Given the description of an element on the screen output the (x, y) to click on. 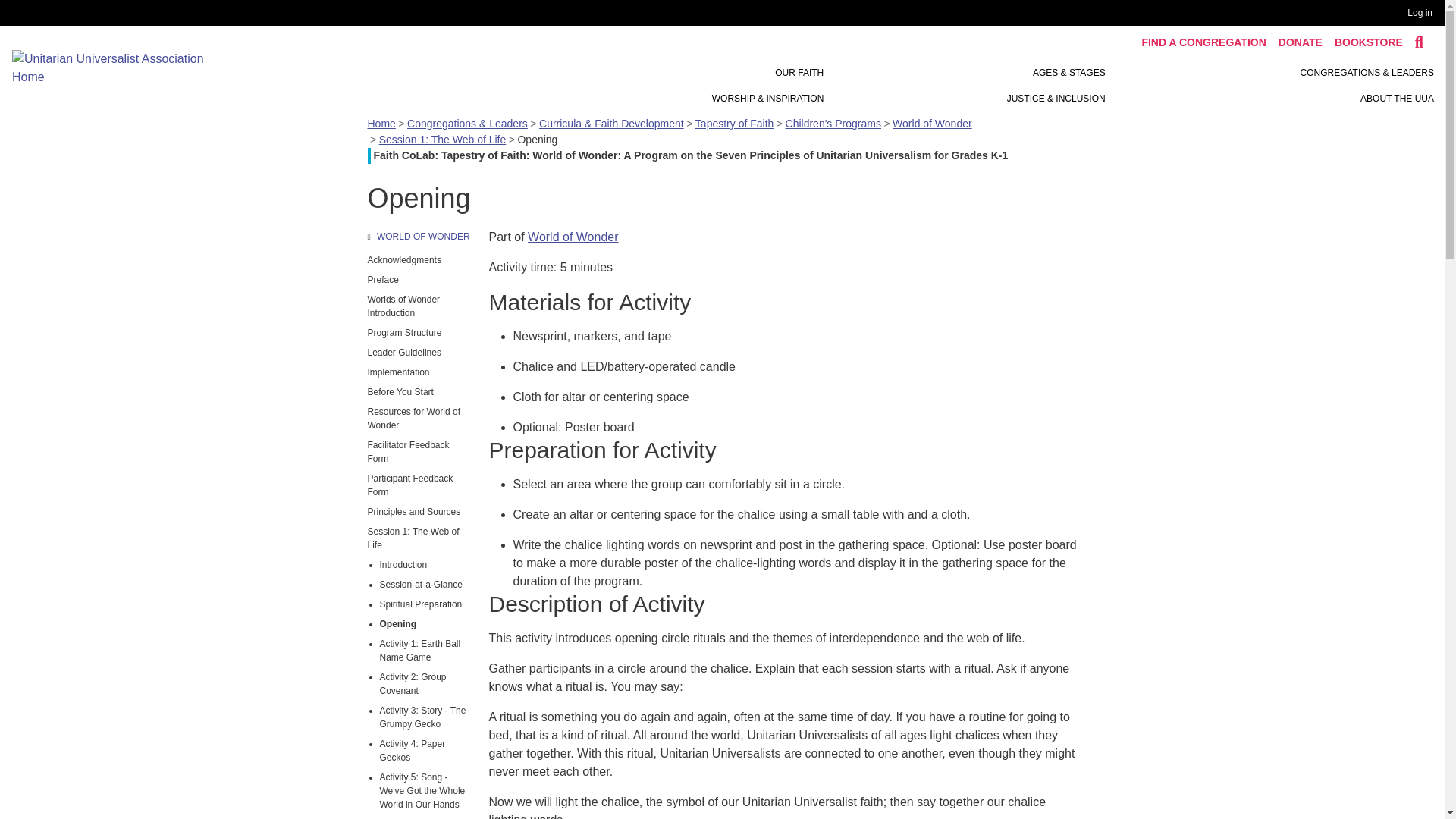
DONATE (1299, 42)
Home (117, 66)
OUR FAITH (799, 72)
Site Menu (962, 85)
BOOKSTORE (1368, 42)
Go up this menu (418, 236)
Log in (1423, 12)
FIND A CONGREGATION (1203, 42)
